Given the description of an element on the screen output the (x, y) to click on. 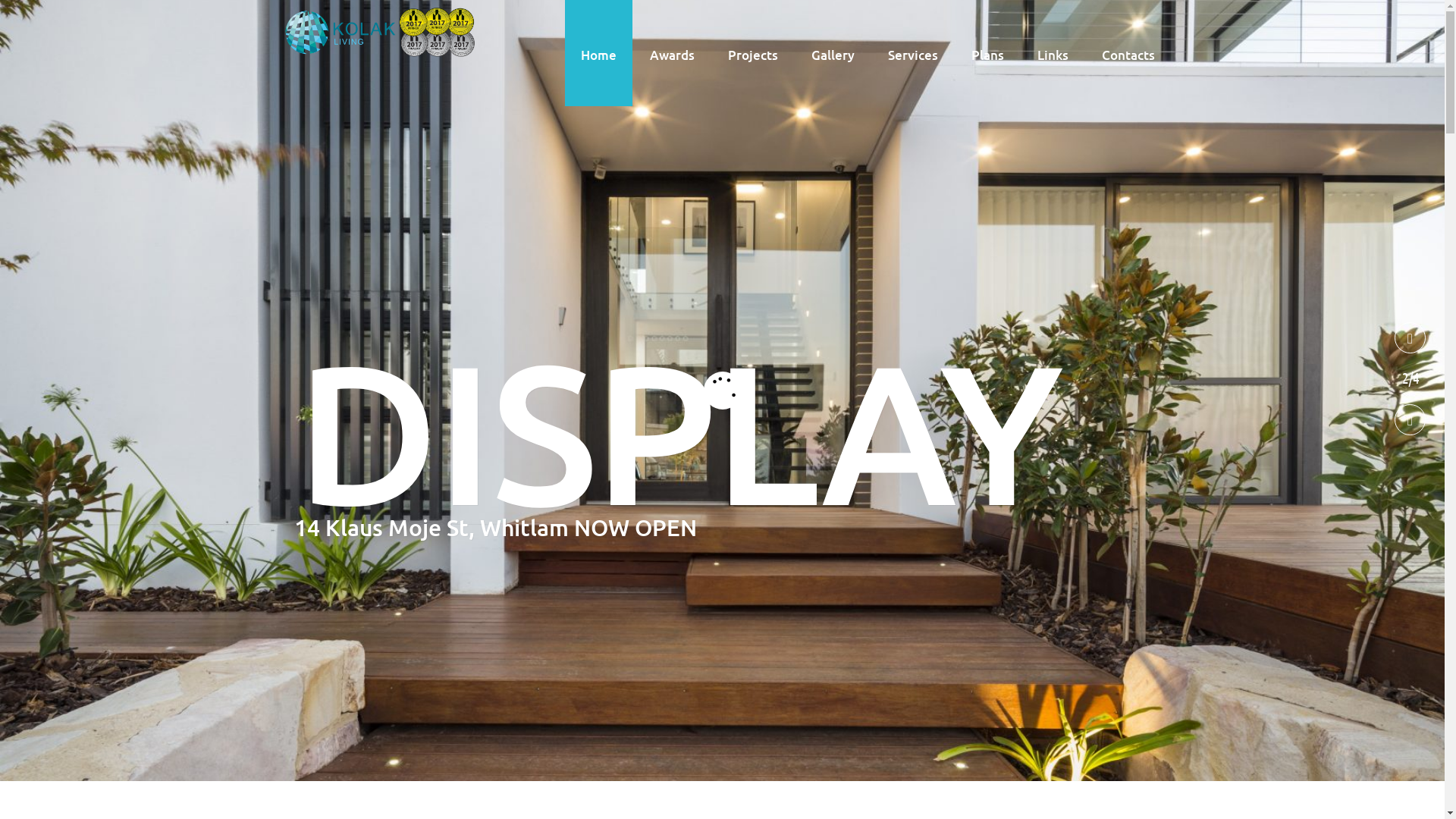
Projects Element type: text (752, 53)
Home Element type: text (597, 53)
Plans Element type: text (987, 53)
Services Element type: text (912, 53)
Contacts Element type: text (1127, 53)
Links Element type: text (1051, 53)
Awards Element type: text (671, 53)
Gallery Element type: text (831, 53)
